Given the description of an element on the screen output the (x, y) to click on. 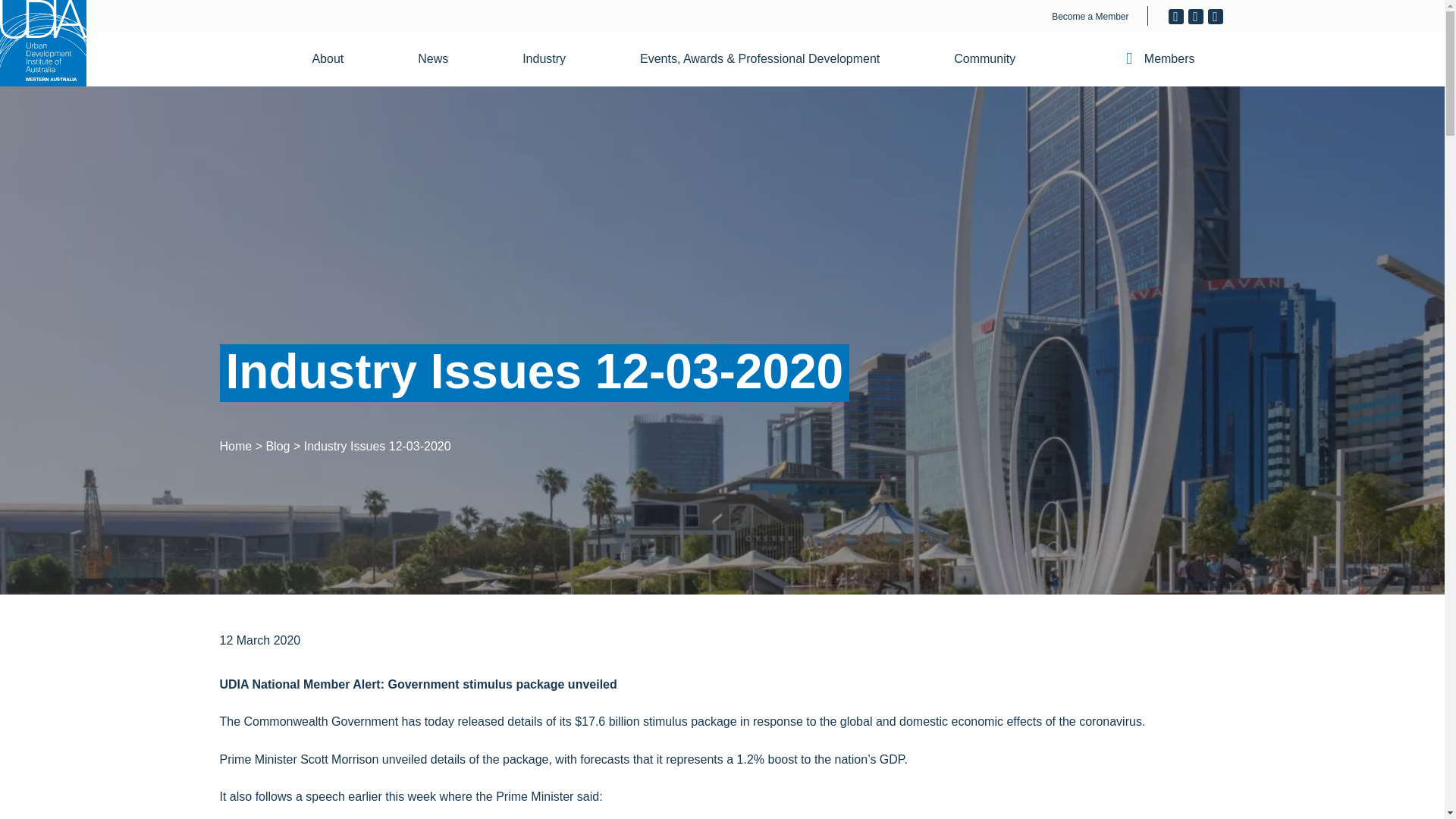
About (336, 59)
Become a Member (1089, 16)
Logo (42, 43)
News (442, 59)
Industry (553, 59)
